Given the description of an element on the screen output the (x, y) to click on. 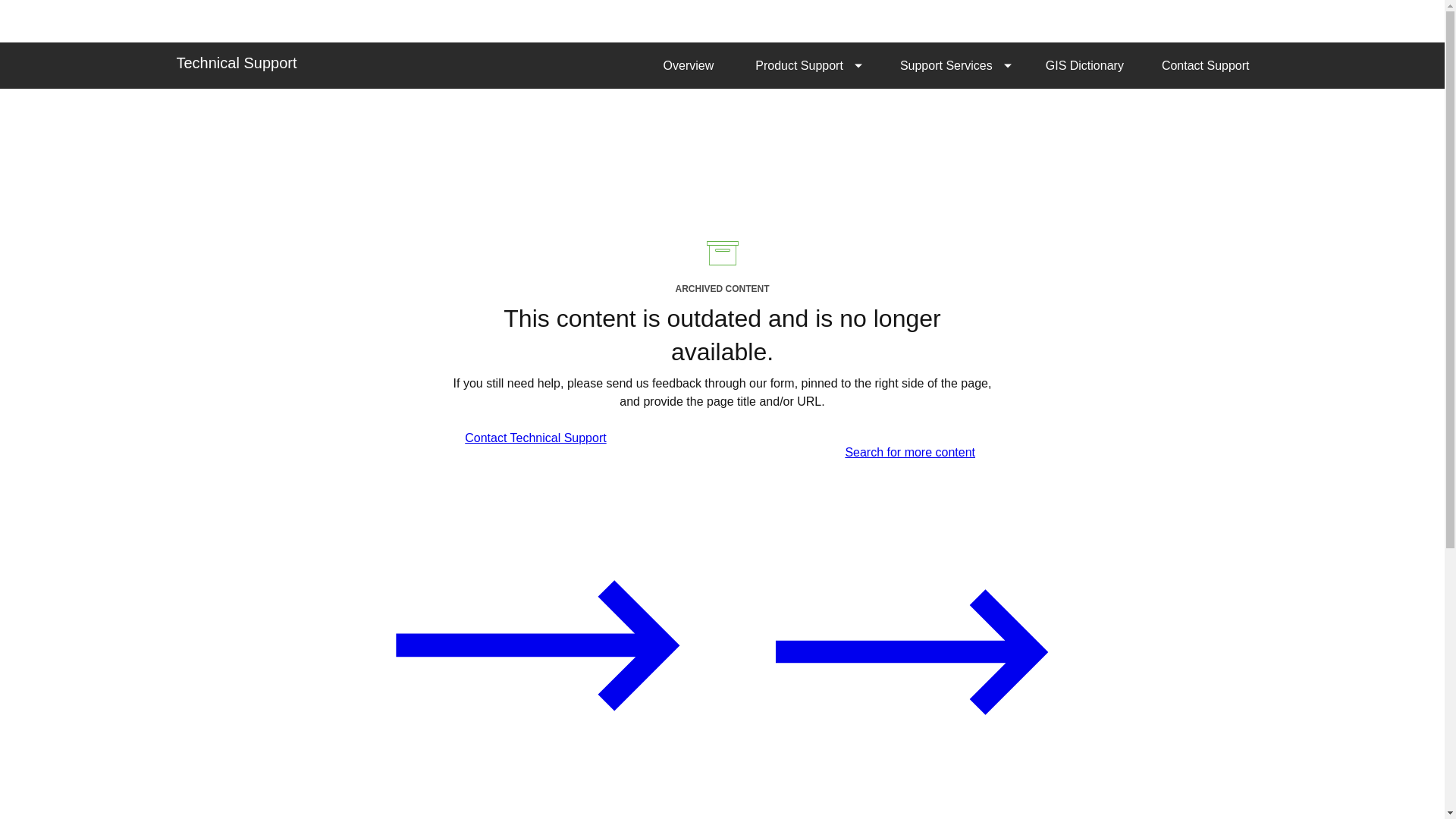
Contact Support (1205, 65)
Support Services (951, 65)
Product Support (804, 65)
GIS Dictionary (1084, 65)
Technical Support (236, 62)
Overview (689, 65)
